Given the description of an element on the screen output the (x, y) to click on. 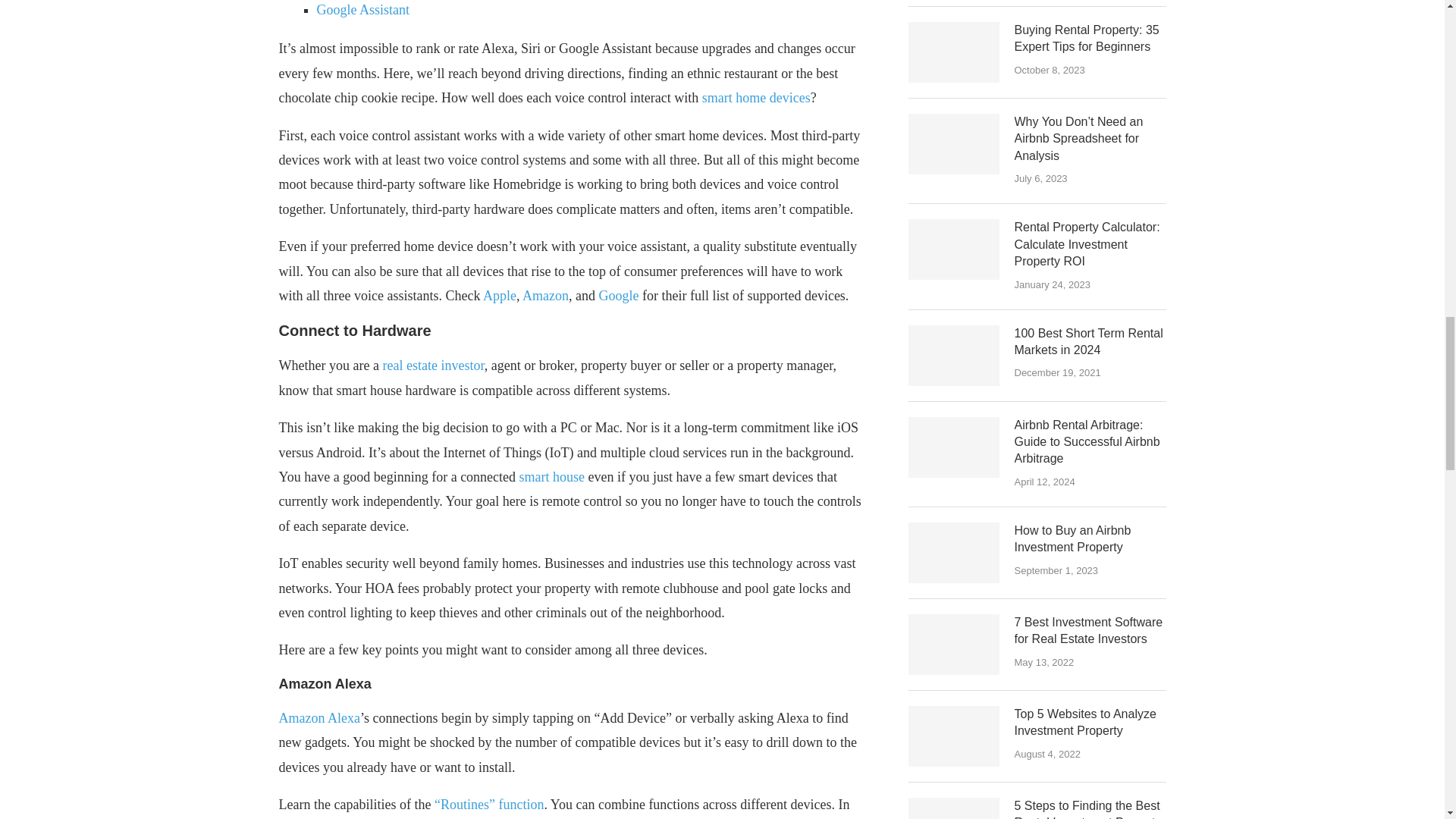
Amazon Alexa (319, 717)
Apple (499, 295)
Google Assistant (363, 9)
smart home devices (755, 97)
Amazon (545, 295)
real estate investor (432, 365)
Goog (613, 295)
smart house (552, 476)
